Given the description of an element on the screen output the (x, y) to click on. 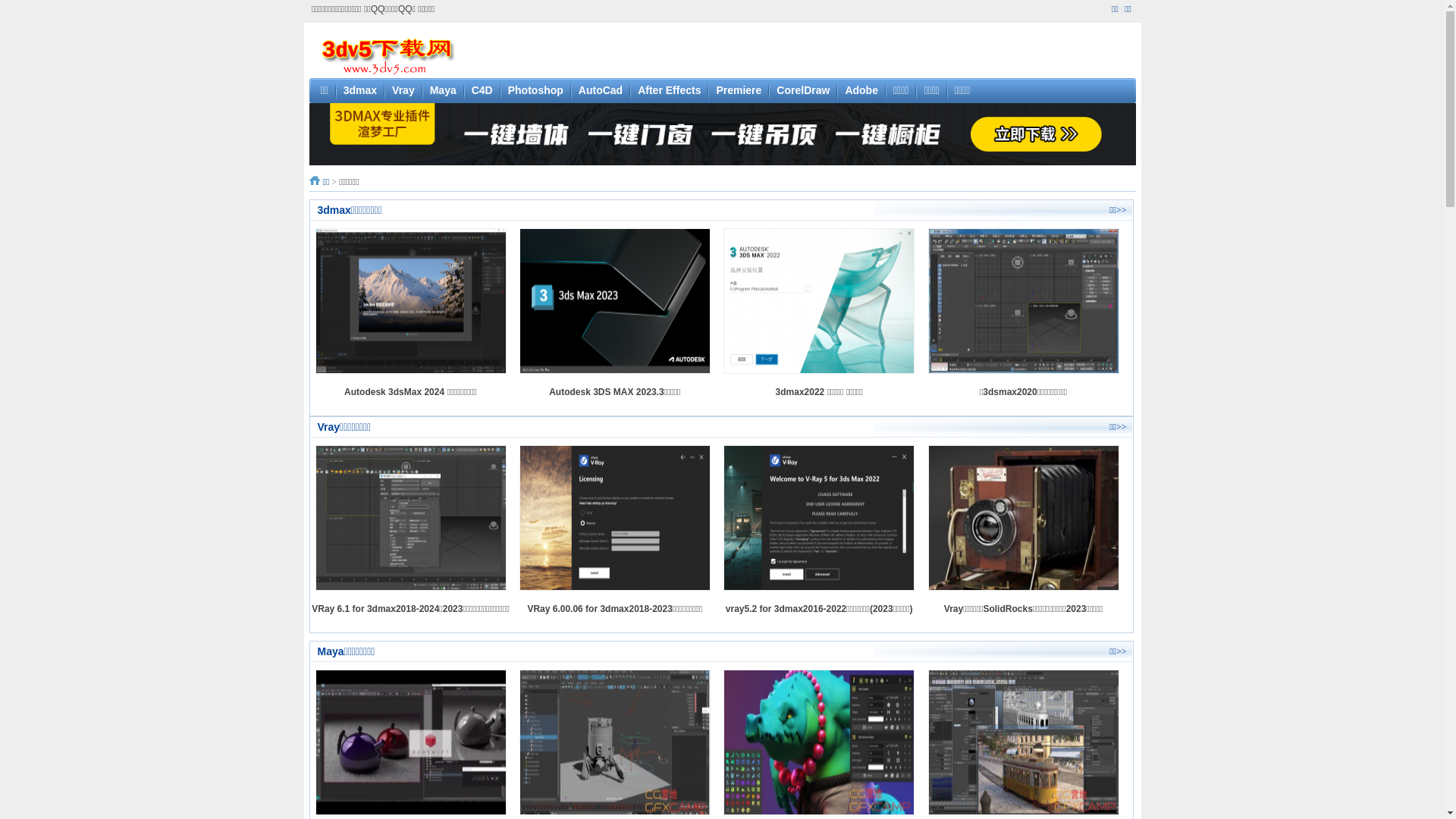
After Effects Element type: text (668, 90)
Maya Element type: text (442, 90)
C4D Element type: text (481, 90)
Premiere Element type: text (738, 90)
  Element type: hover (722, 133)
3dmax Element type: text (359, 90)
Photoshop Element type: text (535, 90)
Adobe Element type: text (861, 90)
AutoCad Element type: text (600, 90)
Vray Element type: text (403, 90)
CorelDraw Element type: text (802, 90)
